Given the description of an element on the screen output the (x, y) to click on. 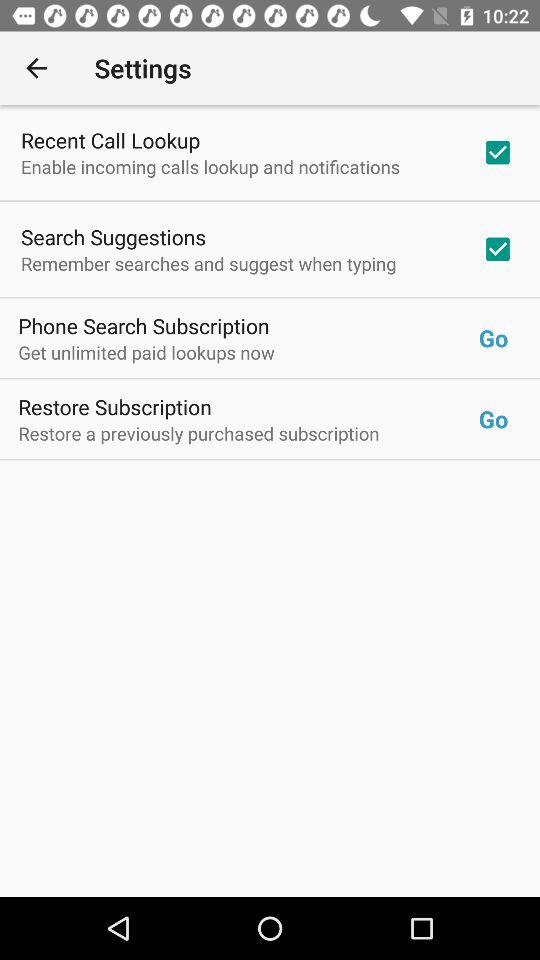
click the remember searches and icon (208, 263)
